Given the description of an element on the screen output the (x, y) to click on. 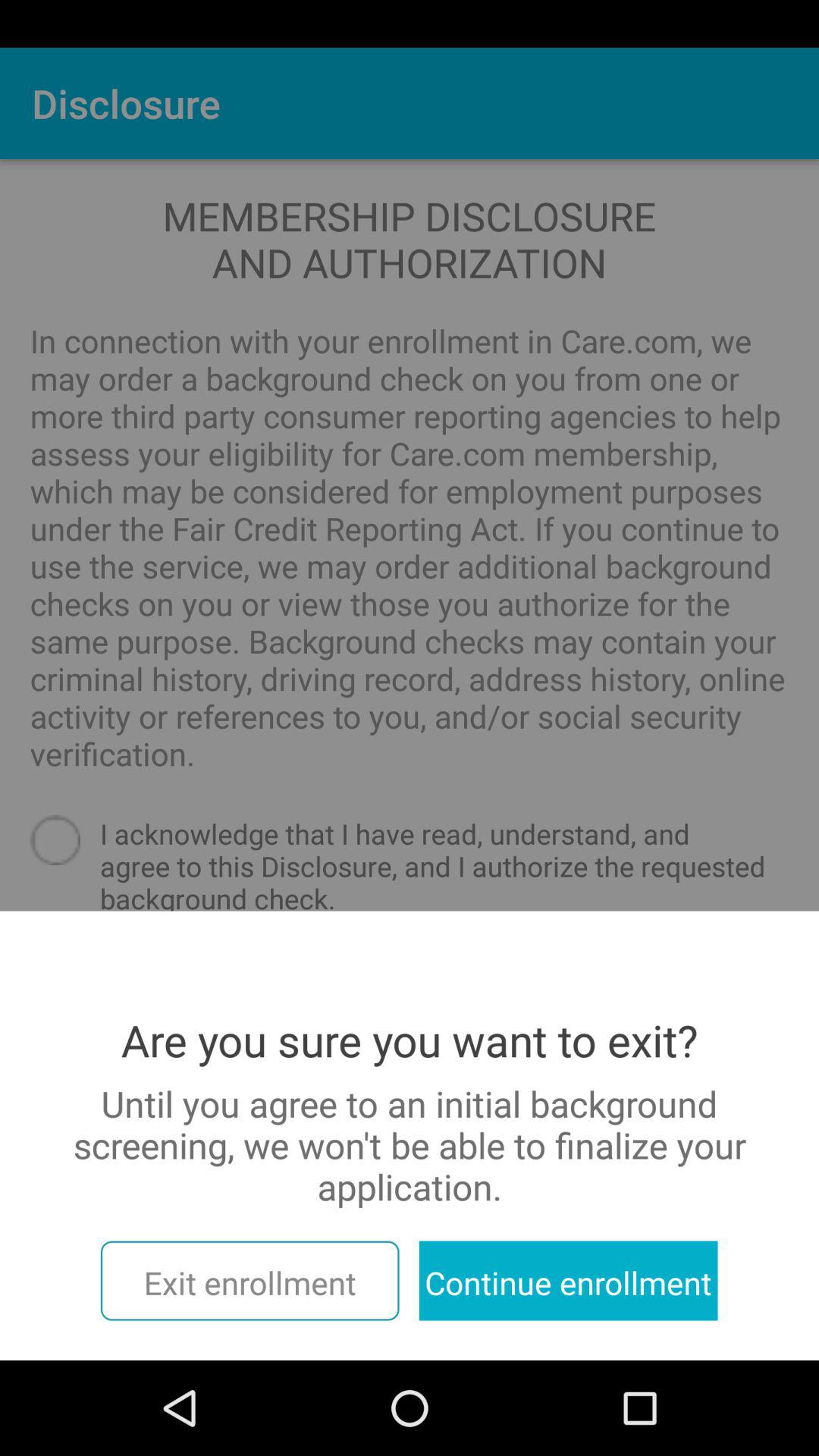
open icon below the until you agree app (249, 1280)
